Given the description of an element on the screen output the (x, y) to click on. 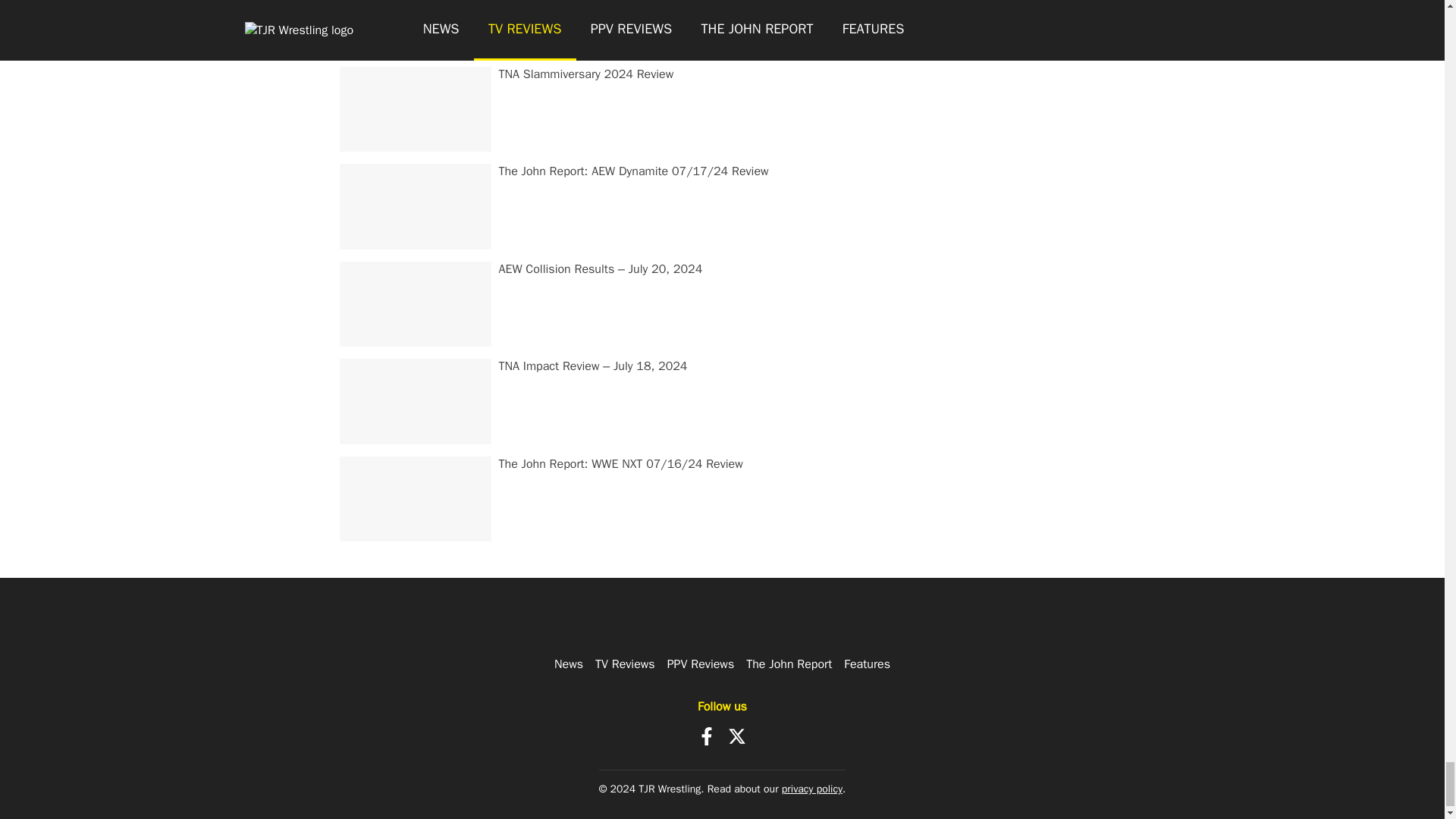
X (736, 736)
Facebook (706, 736)
